Given the description of an element on the screen output the (x, y) to click on. 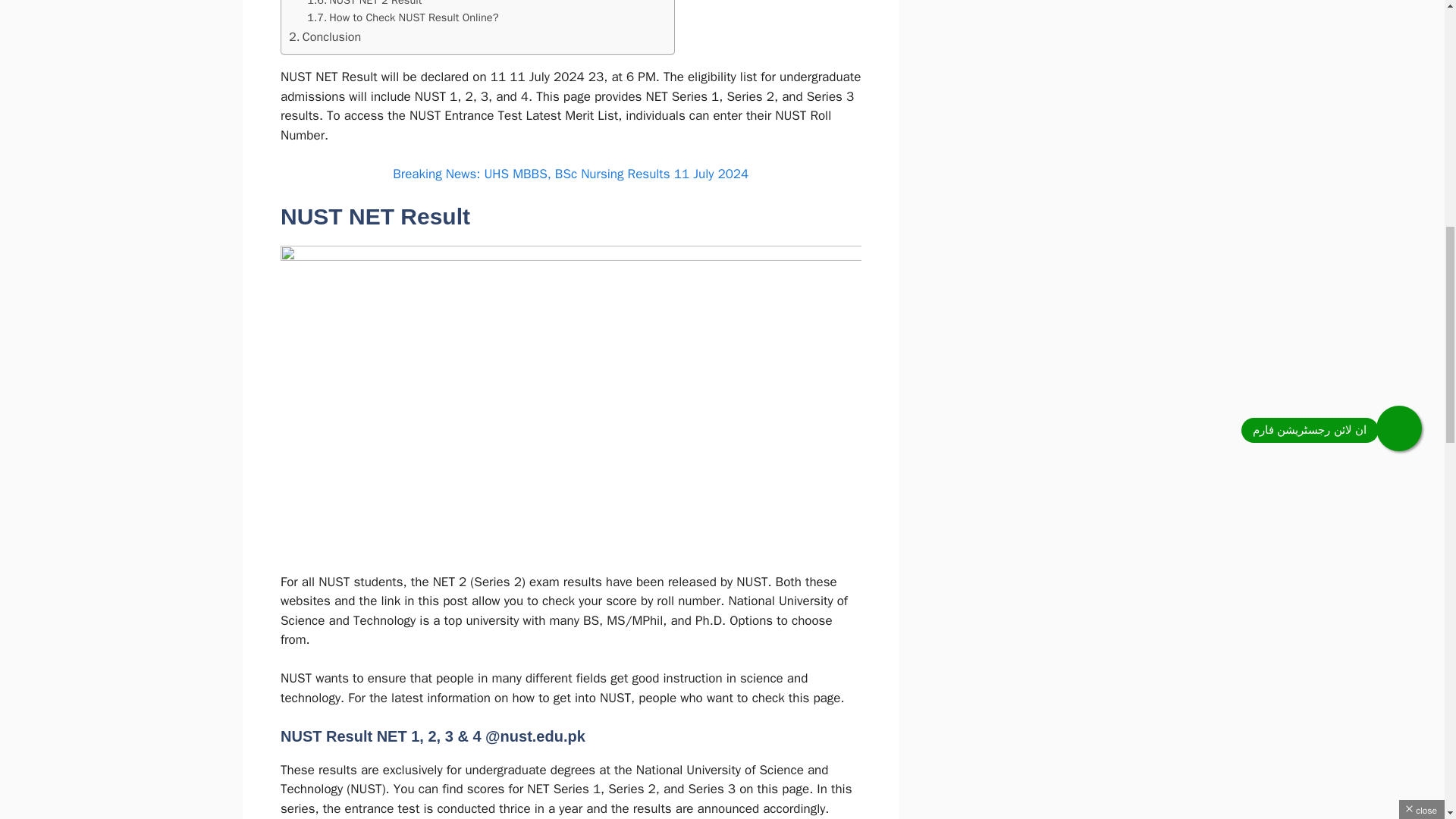
Conclusion (324, 36)
How to Check NUST Result Online? (402, 17)
NUST NET 2 Result (364, 4)
How to Check NUST Result   Online? (402, 17)
Conclusion (324, 36)
NUST NET 2 Result   (364, 4)
Breaking News: UHS MBBS, BSc Nursing Results 11 July 2024 (570, 173)
